Given the description of an element on the screen output the (x, y) to click on. 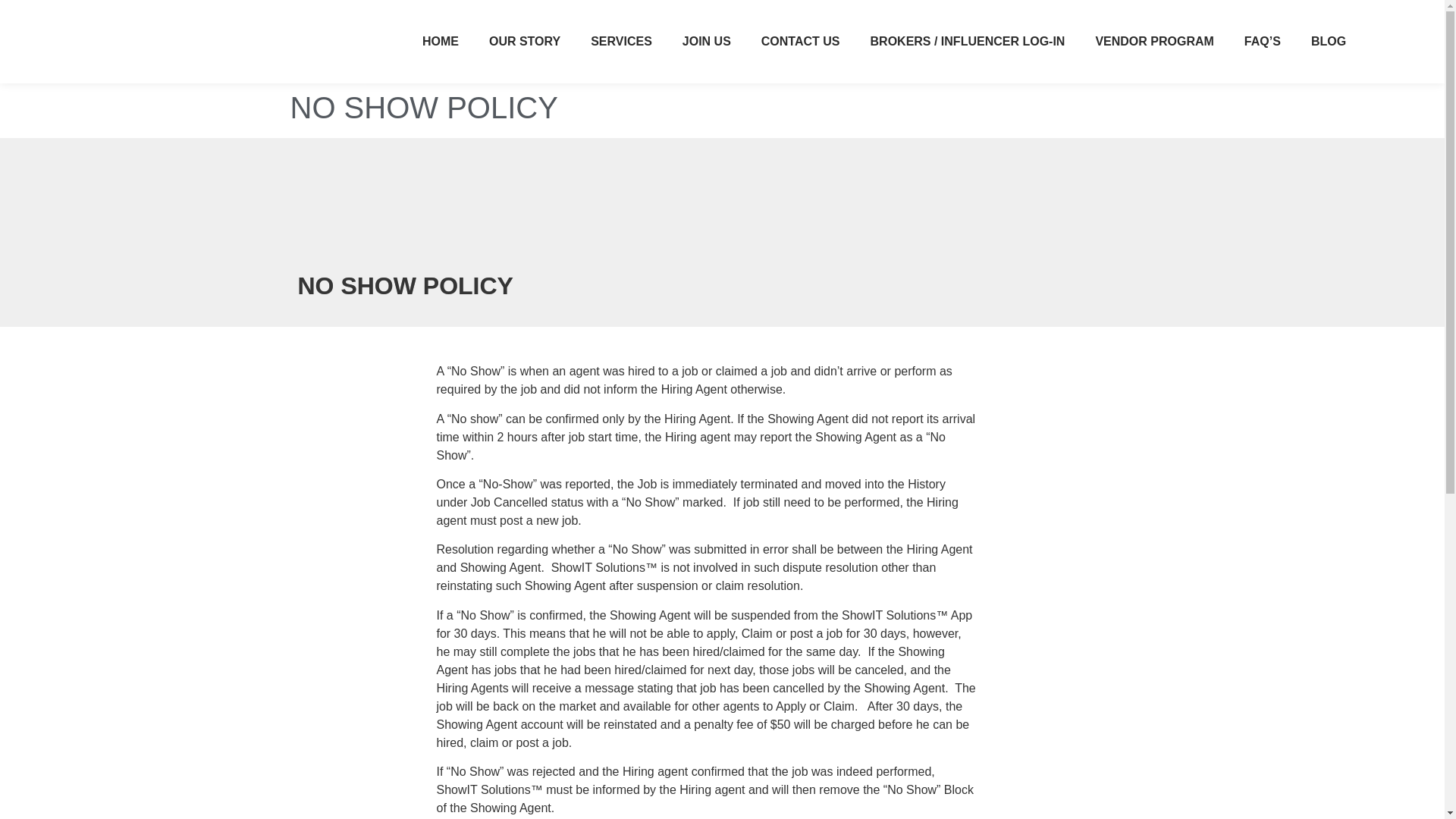
BLOG (1328, 41)
HOME (440, 41)
CONTACT US (800, 41)
JOIN US (705, 41)
OUR STORY (524, 41)
SERVICES (620, 41)
VENDOR PROGRAM (1154, 41)
